Given the description of an element on the screen output the (x, y) to click on. 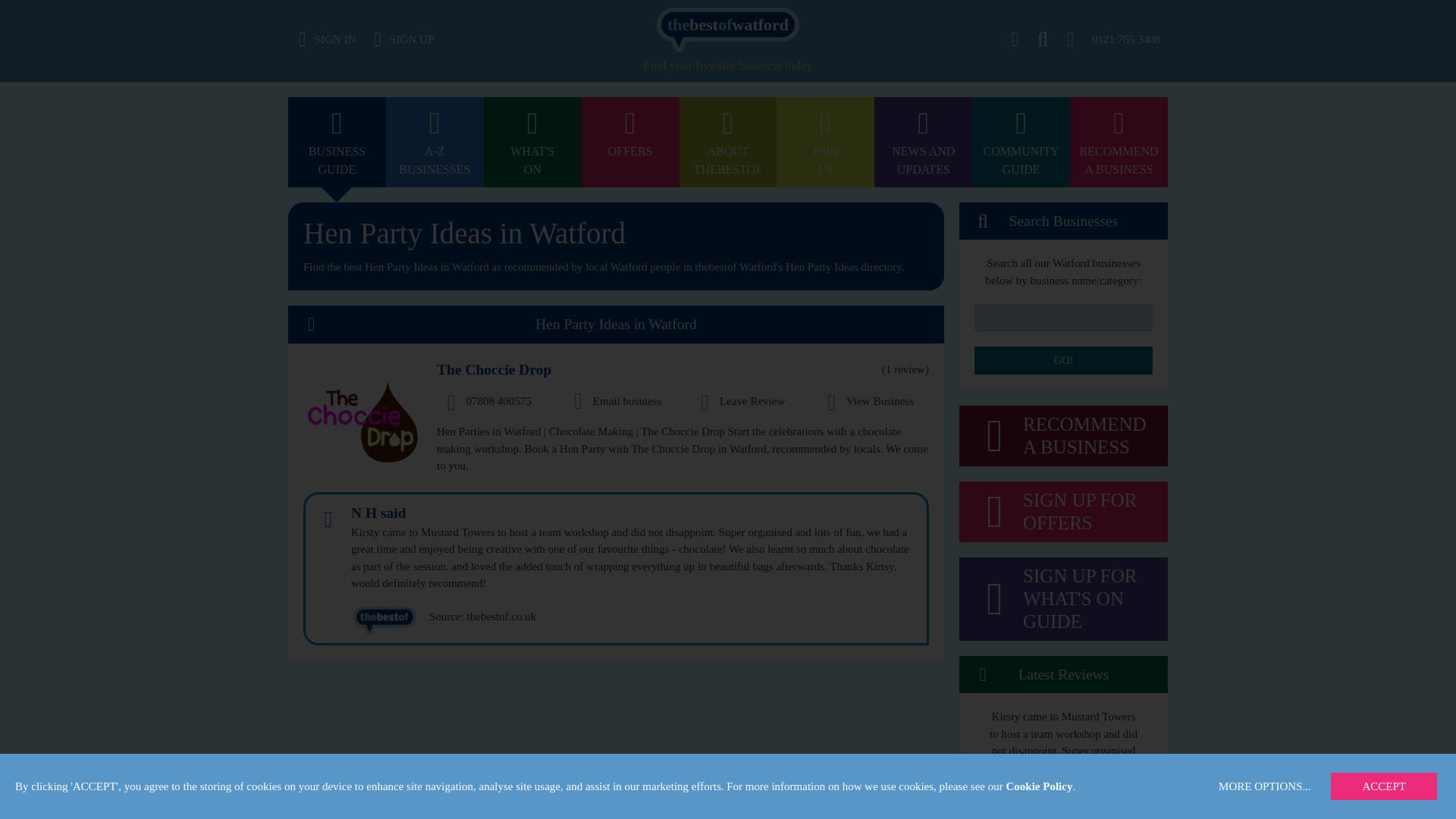
thebestofwatford (434, 7)
View Business (1118, 7)
0121 765 3408 (728, 7)
